Given the description of an element on the screen output the (x, y) to click on. 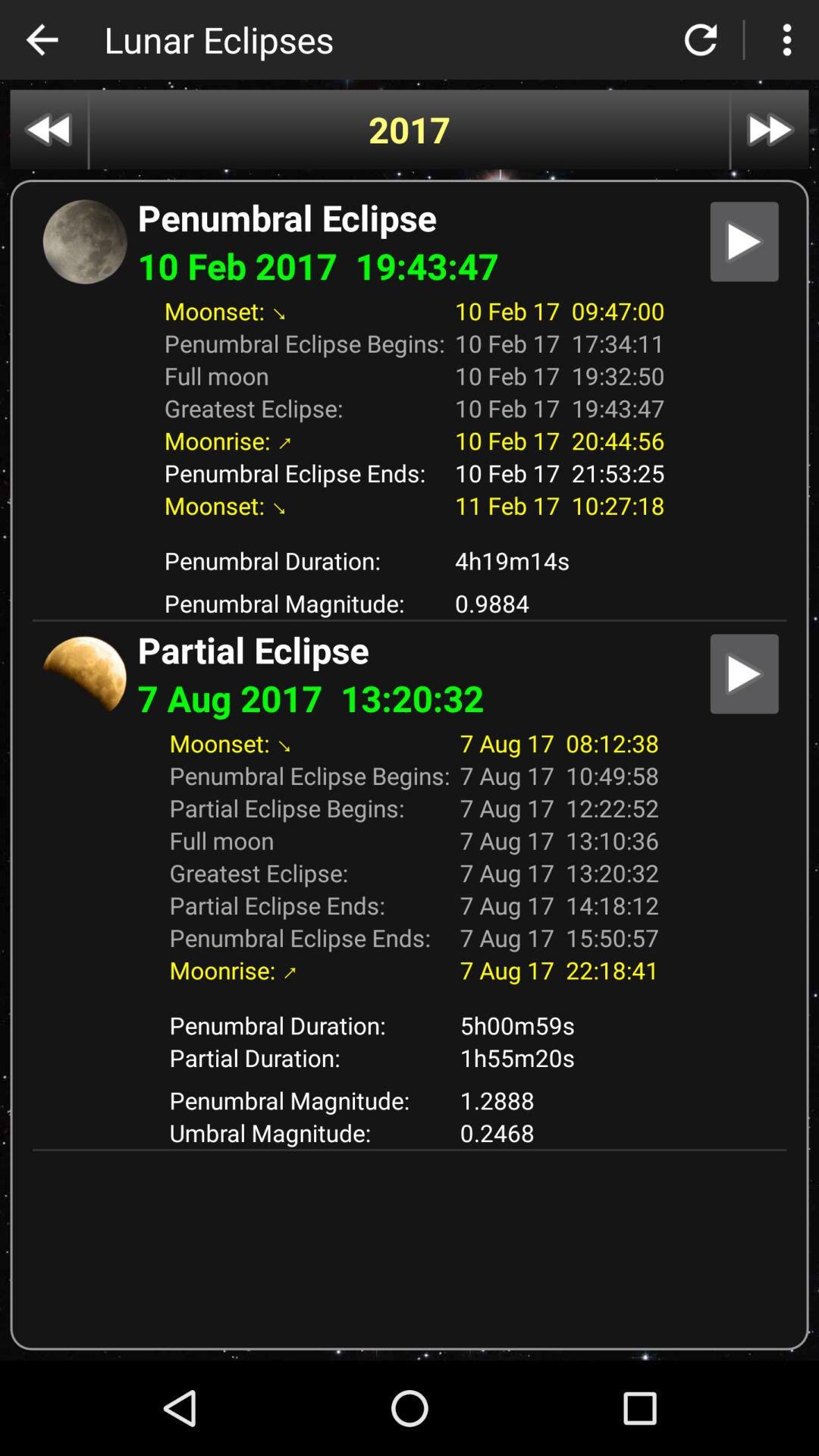
choose item above penumbral duration: (409, 997)
